Given the description of an element on the screen output the (x, y) to click on. 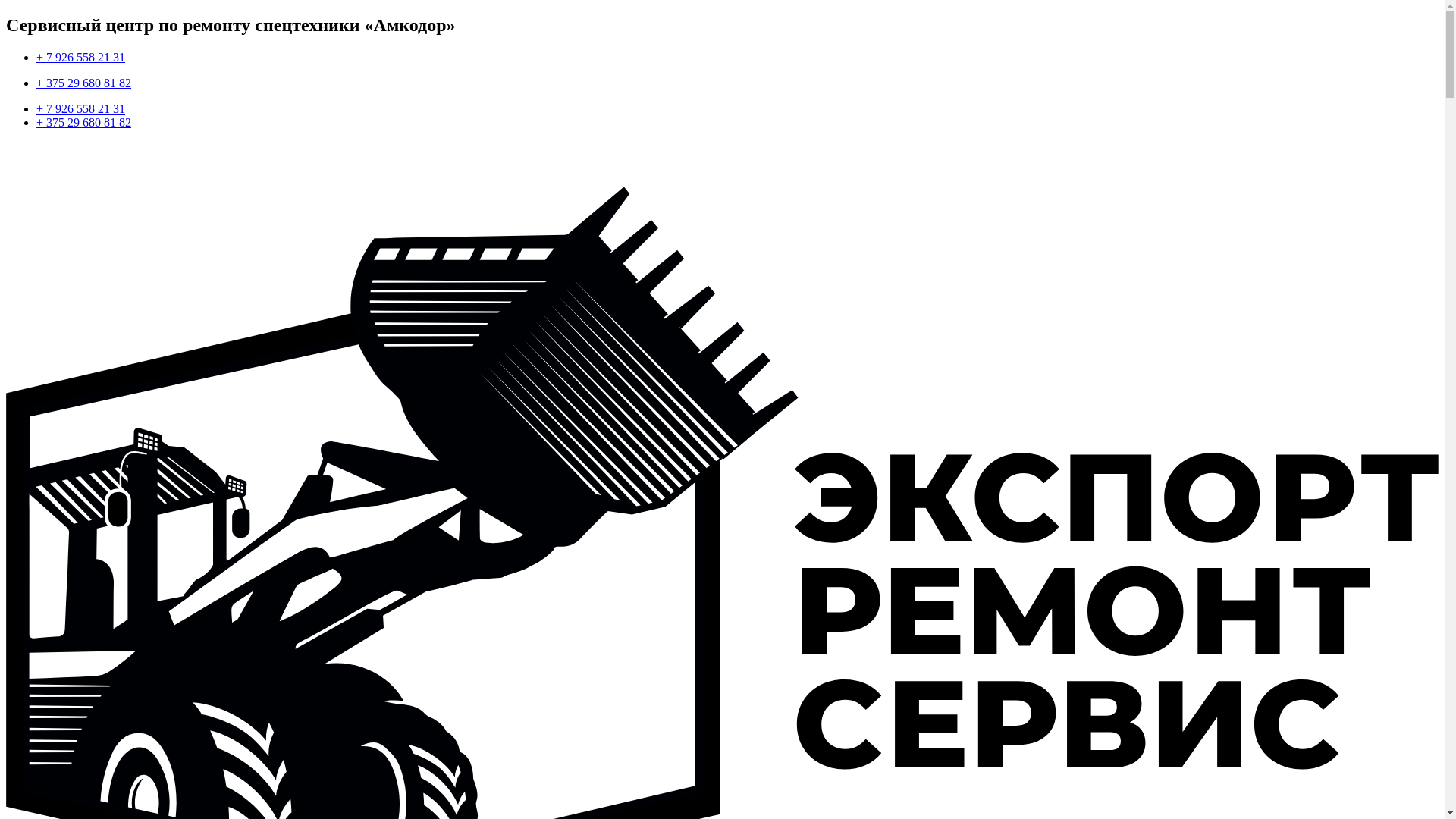
+ 375 29 680 81 82 Element type: text (83, 122)
+ 375 29 680 81 82 Element type: text (83, 82)
+ 7 926 558 21 31 Element type: text (80, 56)
+ 7 926 558 21 31 Element type: text (80, 108)
